Given the description of an element on the screen output the (x, y) to click on. 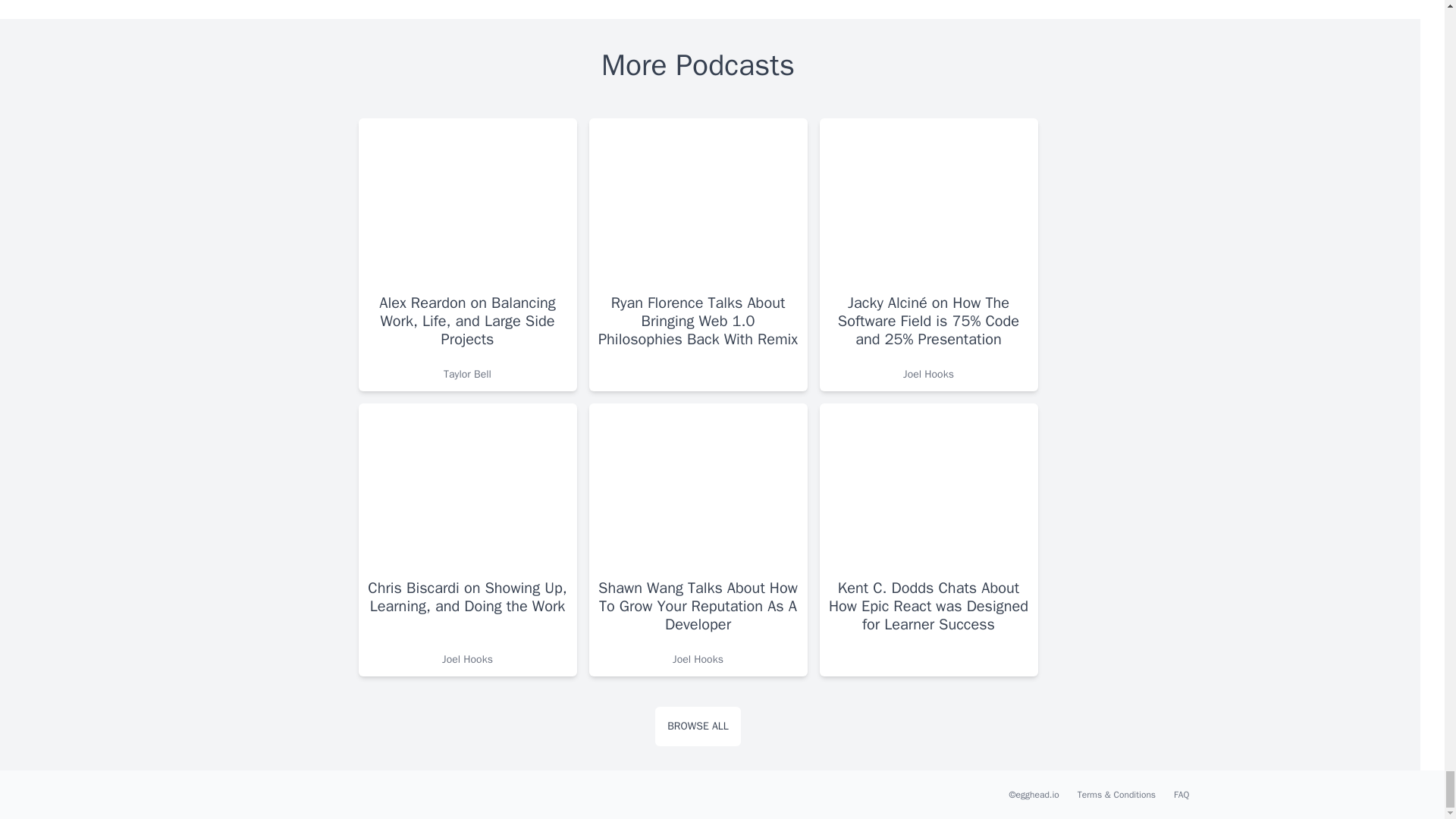
FAQ (1181, 794)
BROWSE ALL (698, 726)
